Given the description of an element on the screen output the (x, y) to click on. 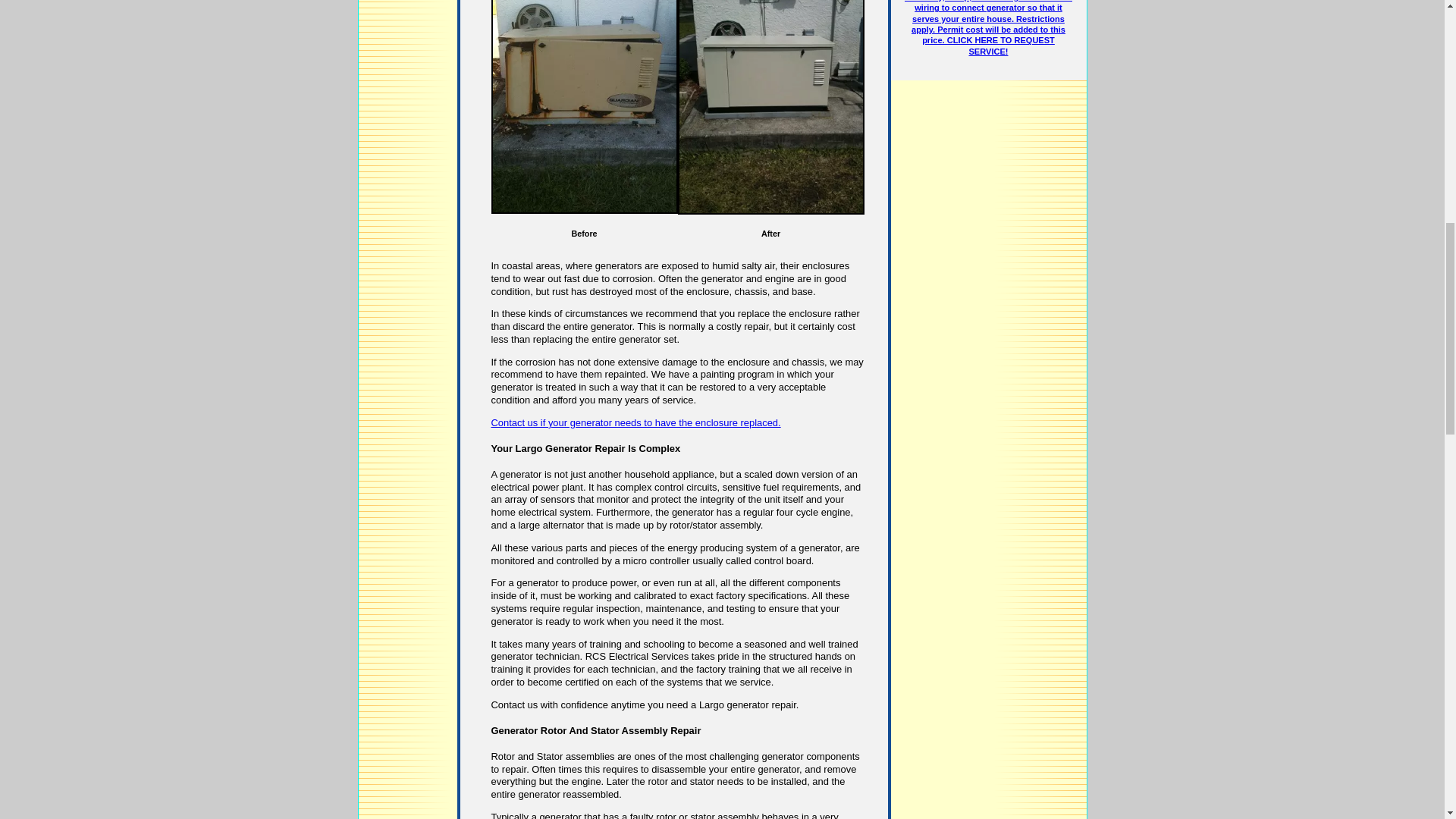
Go to Generator Installation Request (988, 28)
